Given the description of an element on the screen output the (x, y) to click on. 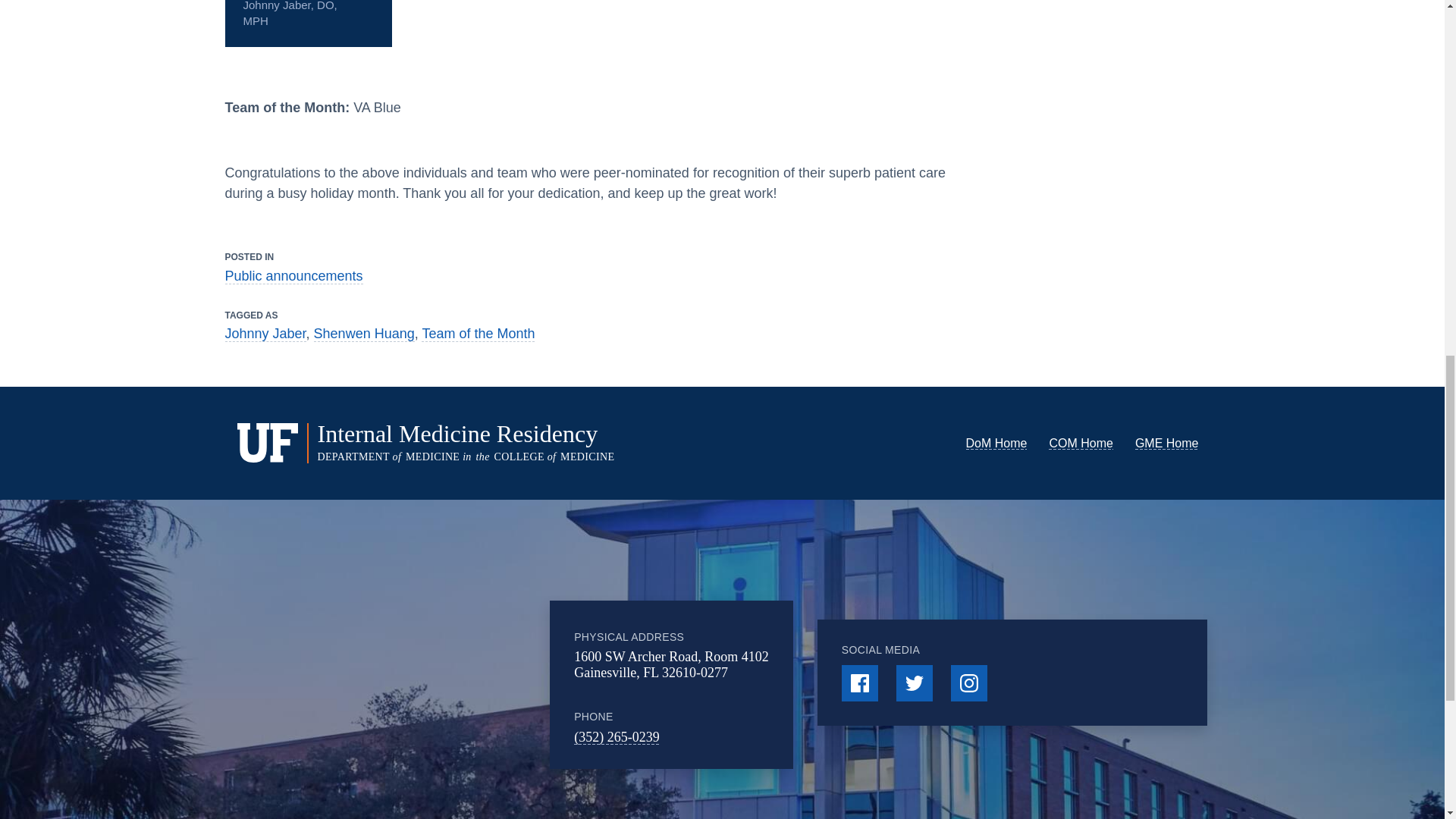
Google Maps Embed (440, 683)
DoM Home (996, 442)
GME Home (1166, 442)
COM Home (1080, 442)
